Given the description of an element on the screen output the (x, y) to click on. 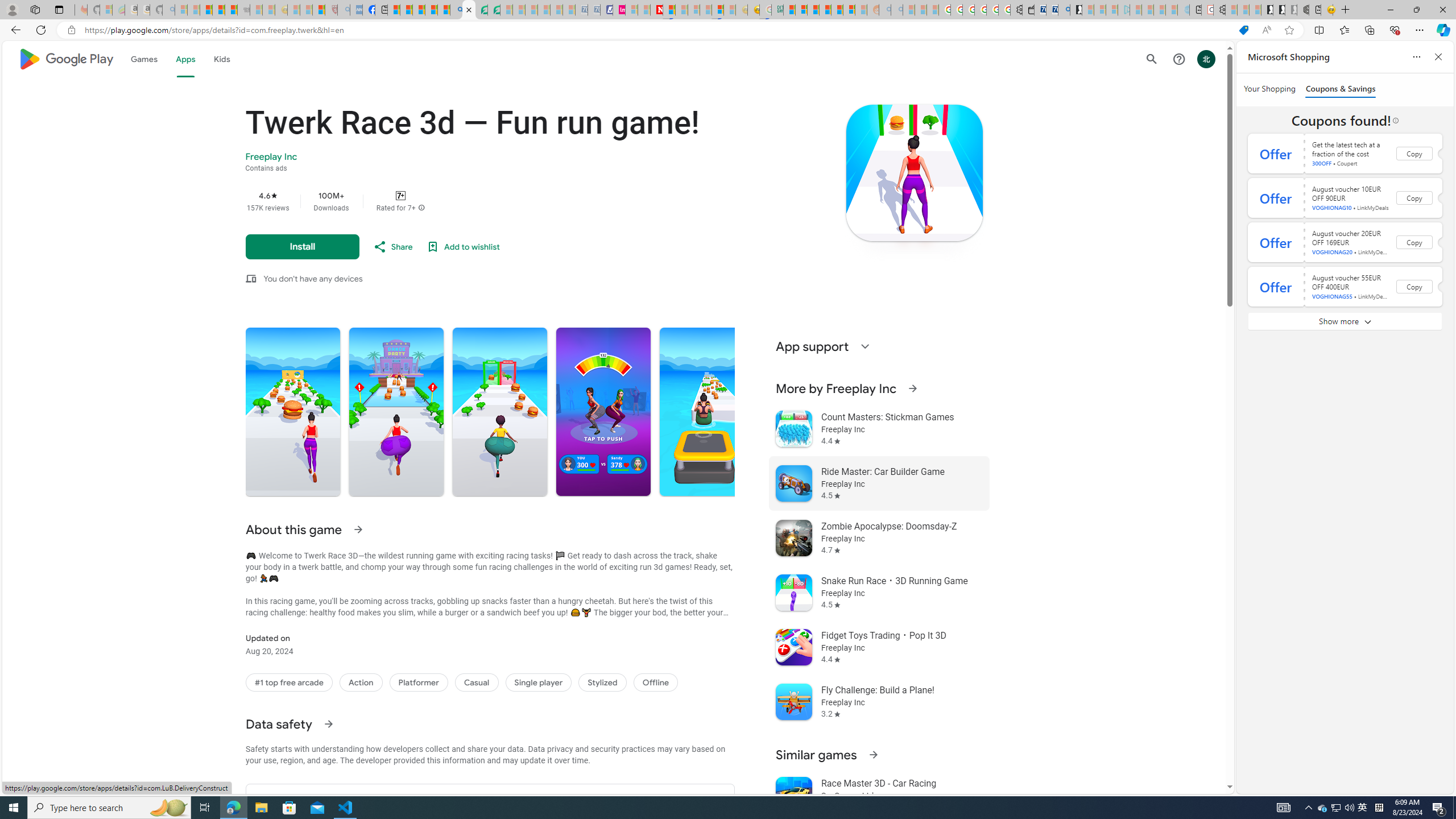
Microsoft account | Privacy (801, 9)
Casual (476, 682)
Bing Real Estate - Home sales and rental listings (1063, 9)
Microsoft Start - Sleeping (1159, 9)
Help Center (1178, 58)
Google Play logo (65, 58)
See more information on More by Freeplay Inc (912, 388)
See more information on About this game (357, 528)
Platformer (418, 682)
Back (13, 29)
